Given the description of an element on the screen output the (x, y) to click on. 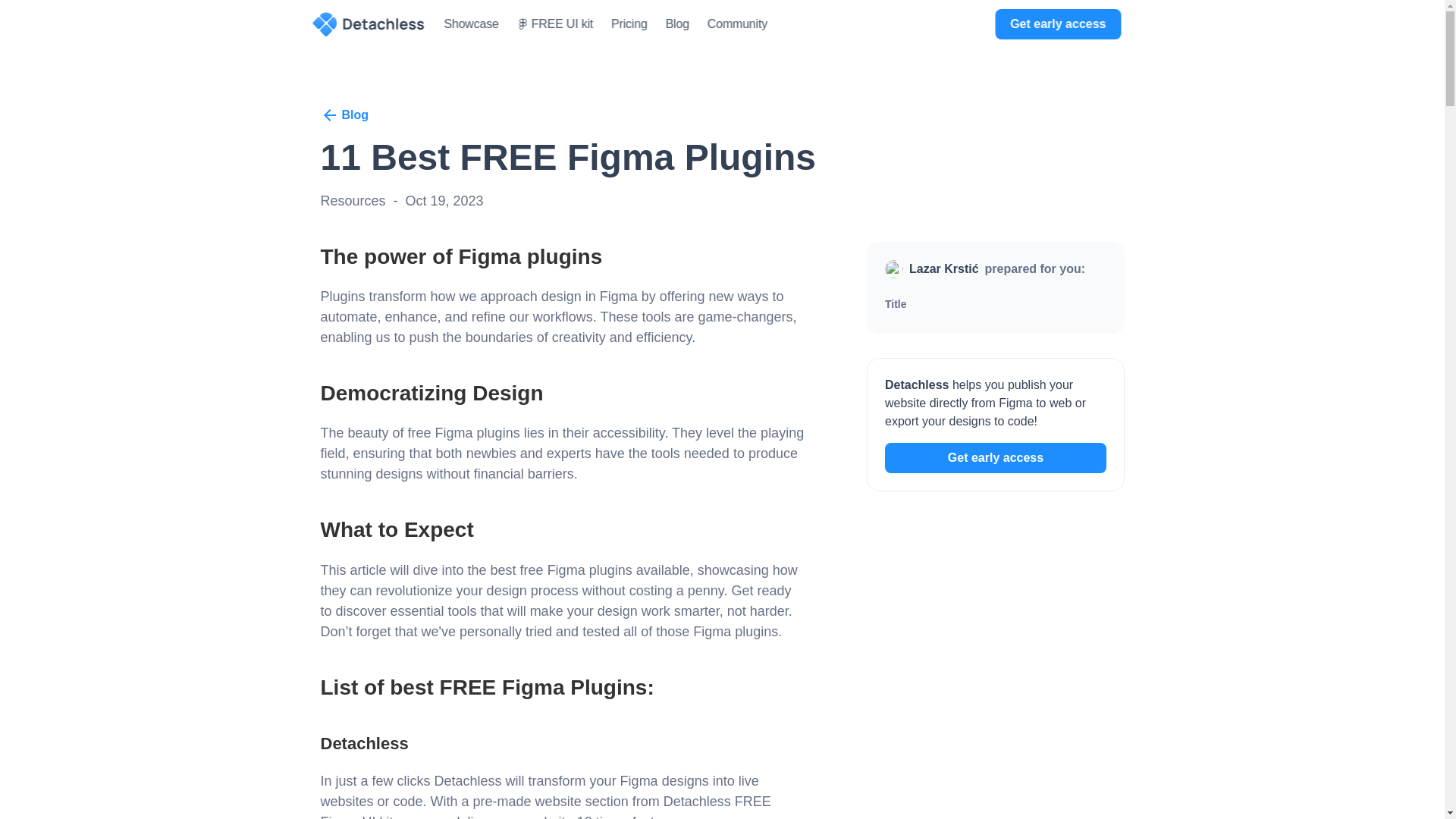
Community (737, 23)
Blog (676, 23)
Get early access (994, 458)
Blog (344, 115)
FREE UI kit (554, 24)
Get early access (1057, 24)
Showcase (471, 23)
Pricing (629, 23)
